Given the description of an element on the screen output the (x, y) to click on. 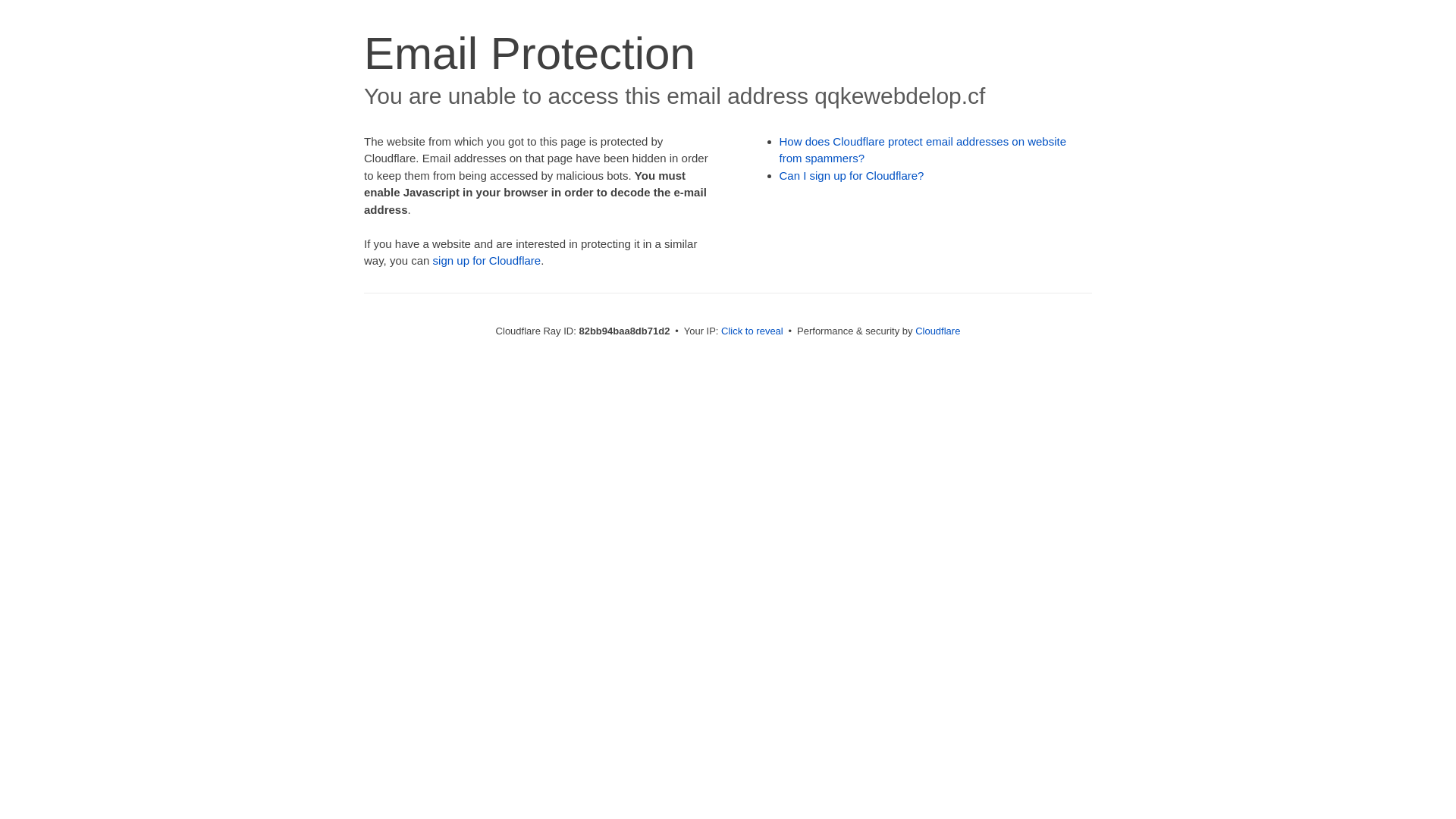
sign up for Cloudflare Element type: text (487, 260)
Click to reveal Element type: text (752, 330)
Can I sign up for Cloudflare? Element type: text (851, 175)
Cloudflare Element type: text (937, 330)
